Given the description of an element on the screen output the (x, y) to click on. 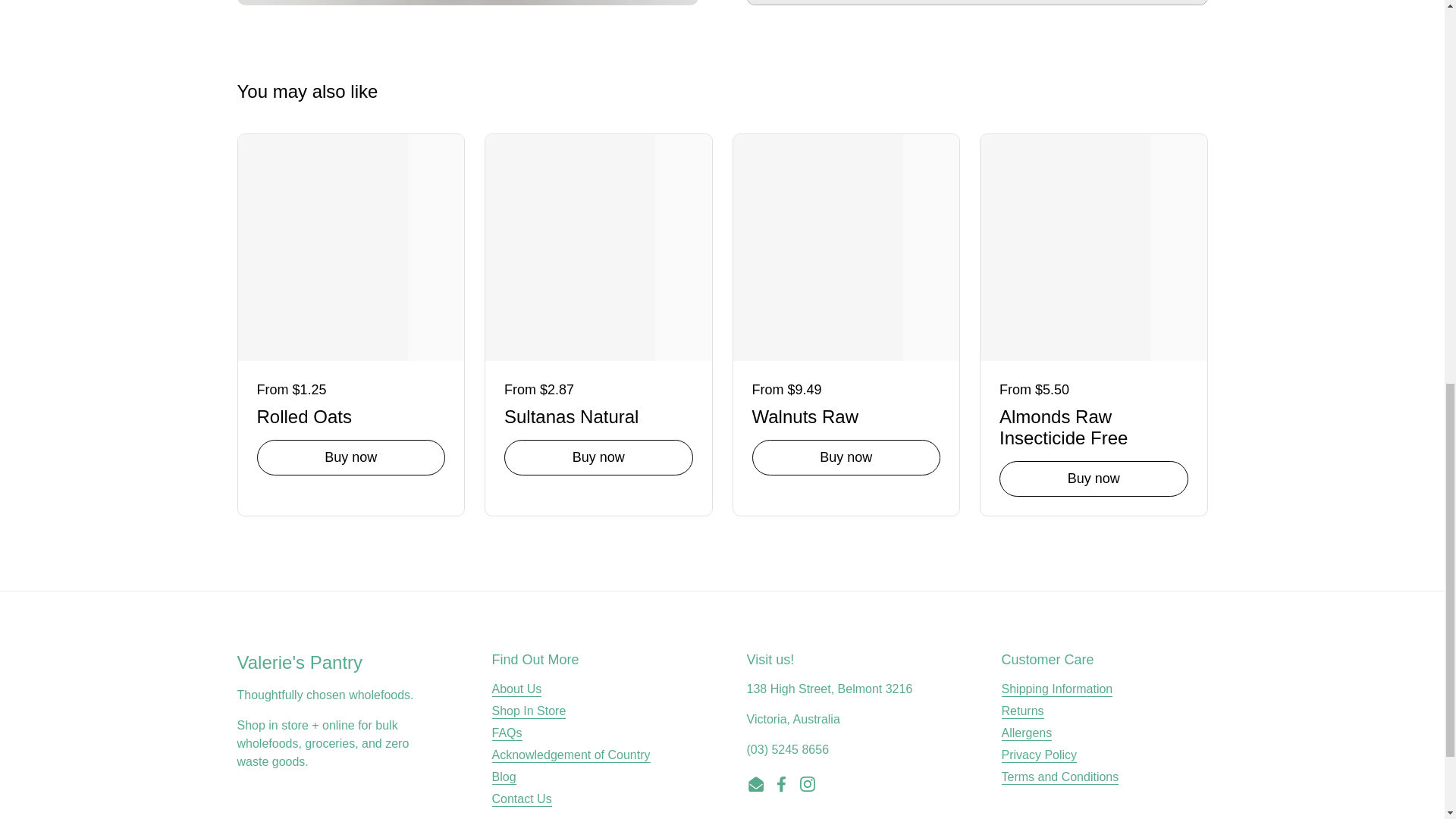
Sultanas Natural (598, 414)
Walnuts Raw (846, 414)
Rolled Oats (350, 414)
Almonds Raw Insecticide Free (1093, 425)
